Given the description of an element on the screen output the (x, y) to click on. 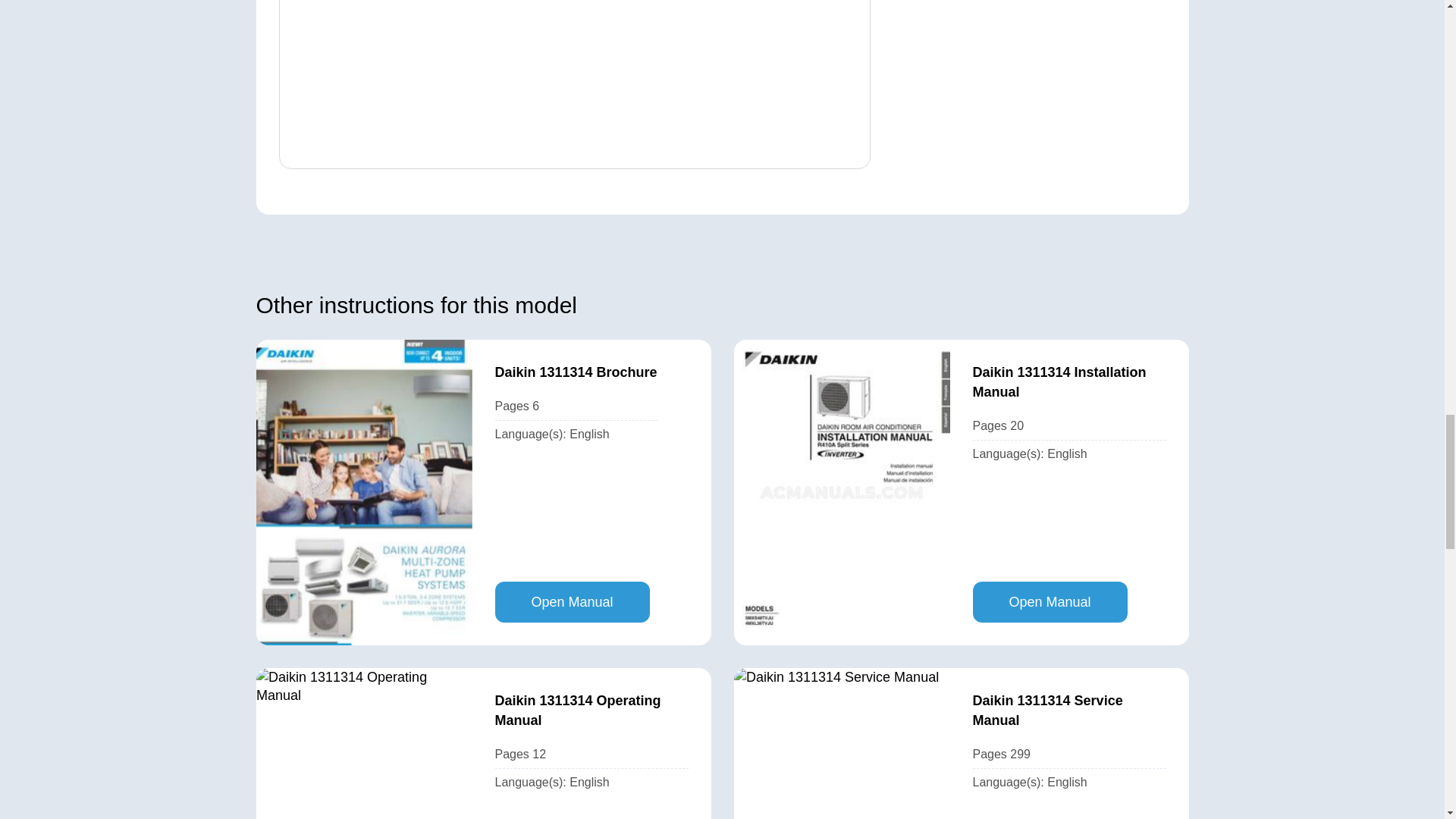
Daikin 1311314 Service Manual (1069, 710)
Daikin 1311314 Brochure (575, 372)
Open Manual (1049, 601)
Open Manual (572, 601)
Daikin 1311314 Installation Manual (1069, 382)
Daikin 1311314 Operating Manual (591, 710)
